Given the description of an element on the screen output the (x, y) to click on. 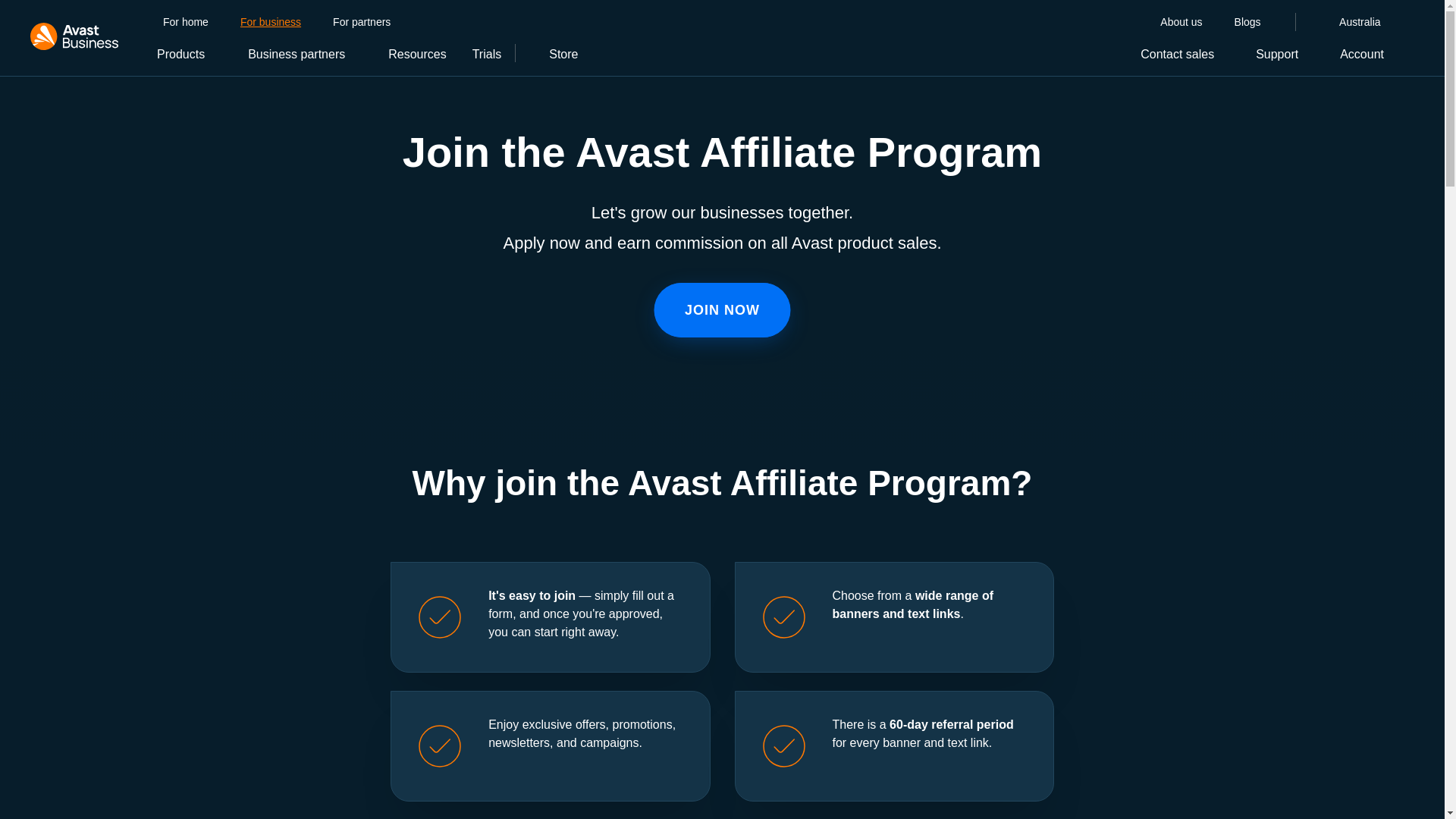
For home (185, 22)
For business (270, 22)
Australia (1346, 22)
For partners (361, 22)
Home (73, 35)
About us (1181, 22)
